Given the description of an element on the screen output the (x, y) to click on. 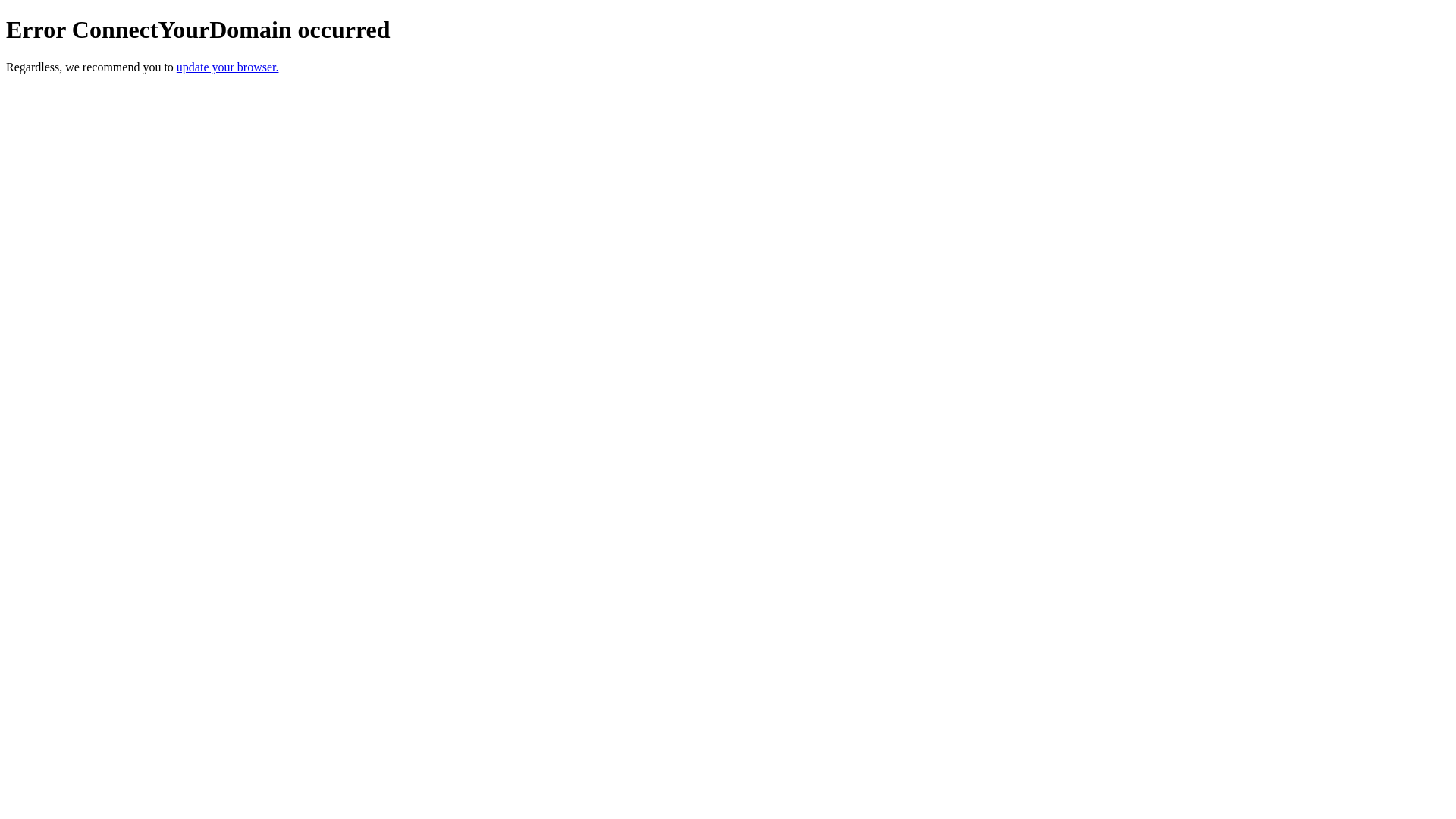
update your browser. Element type: text (227, 66)
